Given the description of an element on the screen output the (x, y) to click on. 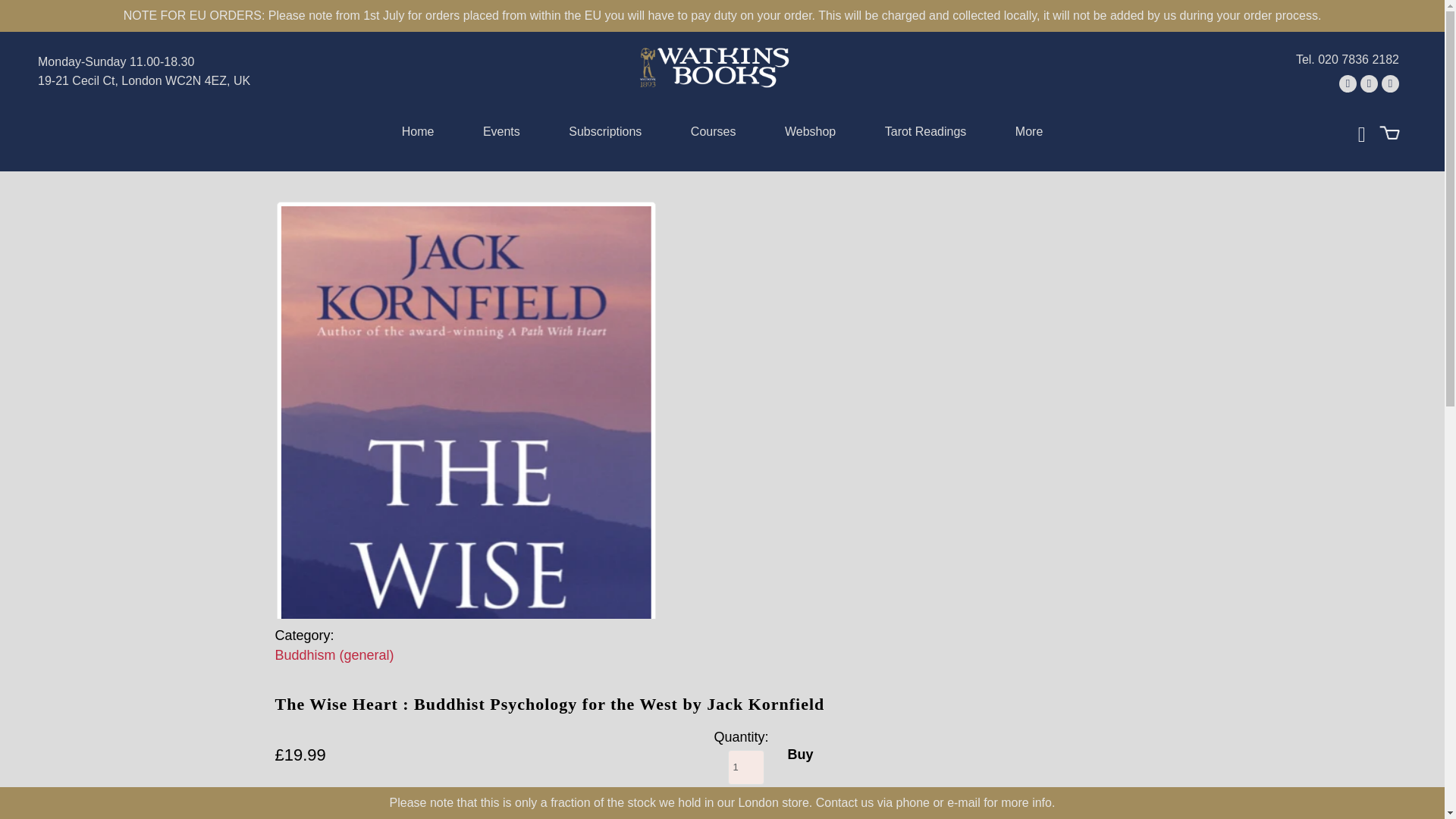
Courses (713, 135)
Webshop (809, 135)
Buy (799, 754)
Subscriptions (605, 135)
Watkins Books on Twitter (1347, 83)
Tarot Readings (925, 135)
Watkins Books (714, 67)
Watkins Books on Facebook (1368, 83)
Buy (799, 754)
1 (746, 767)
Watkins Books on Instagram (1390, 83)
